Given the description of an element on the screen output the (x, y) to click on. 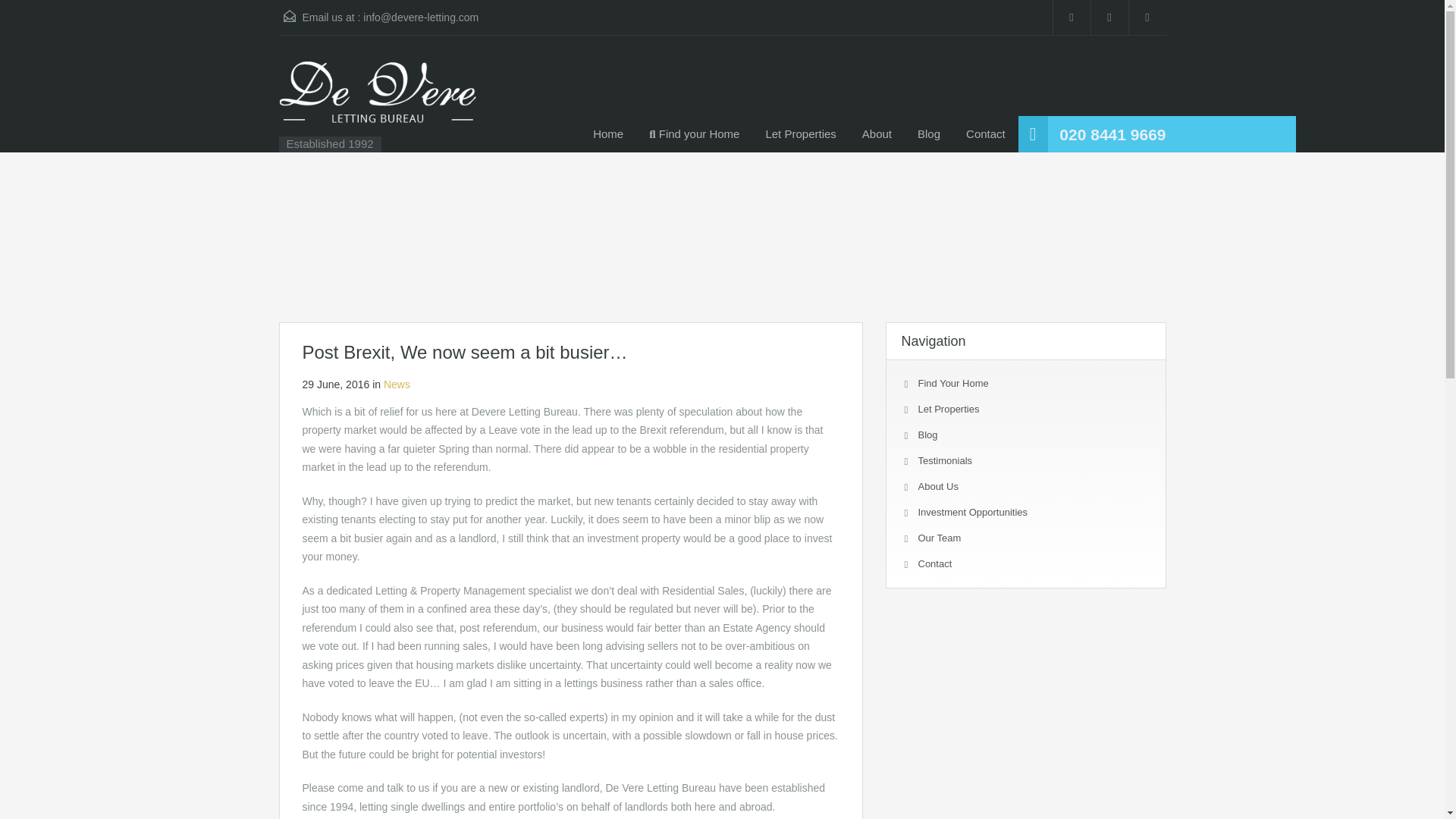
About Us (937, 486)
De Vere (377, 101)
Testimonials (944, 460)
Investment Opportunities (972, 511)
Make a Call (1112, 134)
Blog (927, 434)
Find Your Home (952, 383)
Contact (985, 134)
About (876, 134)
Find your Home (694, 134)
Let Properties (947, 408)
Blog (928, 134)
Home (607, 134)
020 8441 9669 (1112, 134)
Let Properties (800, 134)
